Given the description of an element on the screen output the (x, y) to click on. 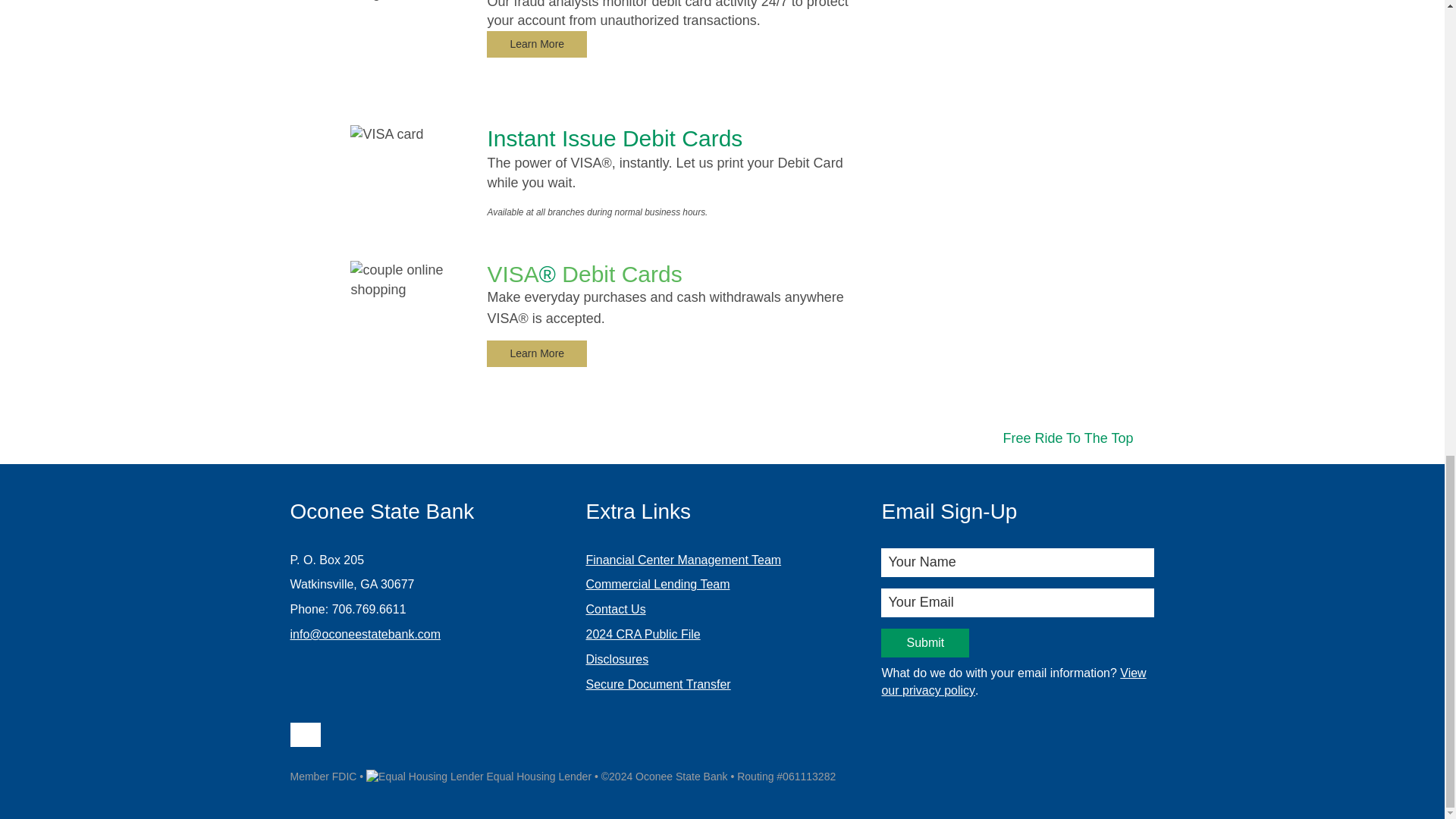
youtube (415, 737)
Email us (305, 737)
LinkedIn (388, 737)
instagram (361, 737)
Facebook (334, 737)
